Given the description of an element on the screen output the (x, y) to click on. 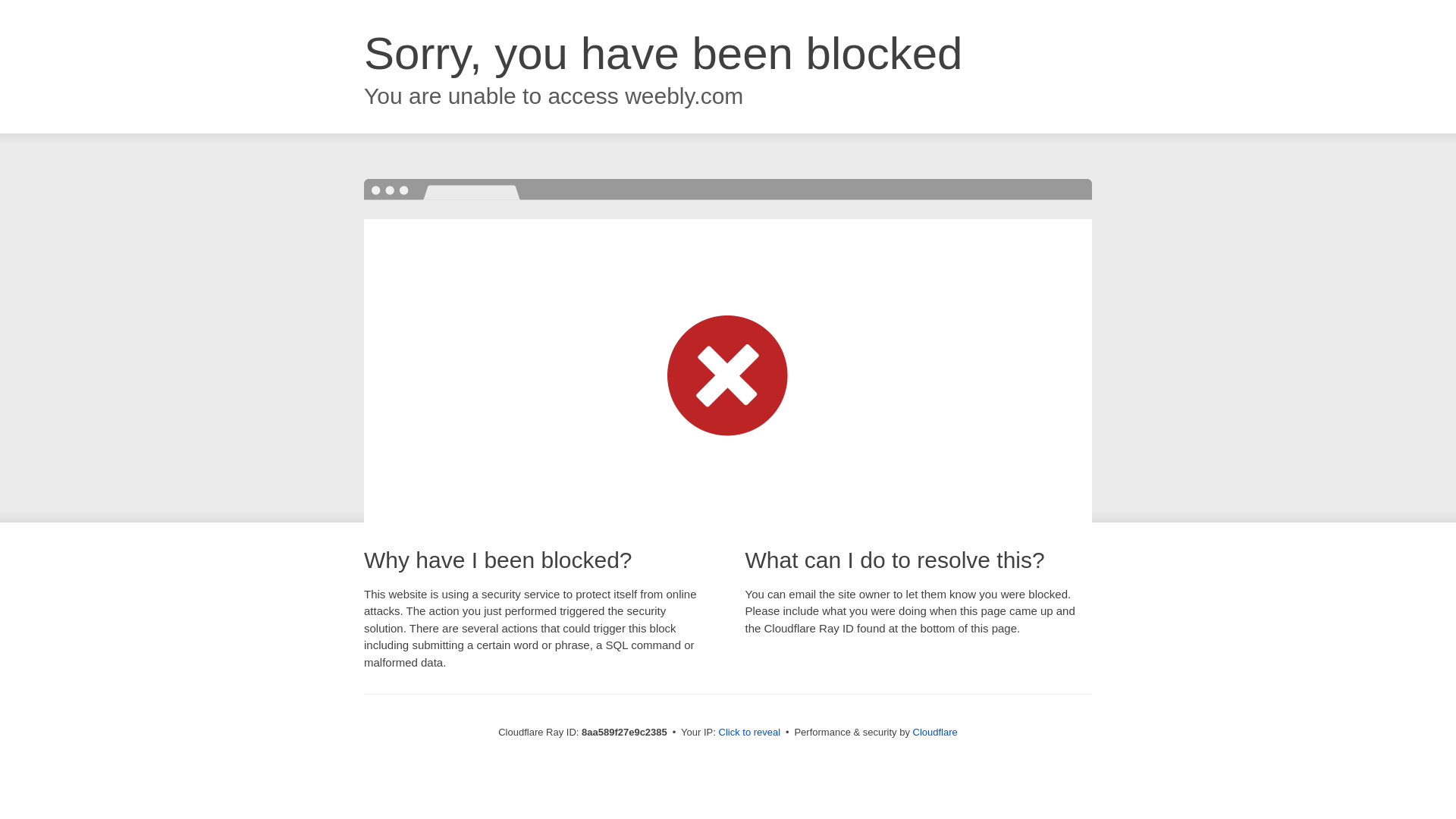
Click to reveal (749, 732)
Cloudflare (935, 731)
